Given the description of an element on the screen output the (x, y) to click on. 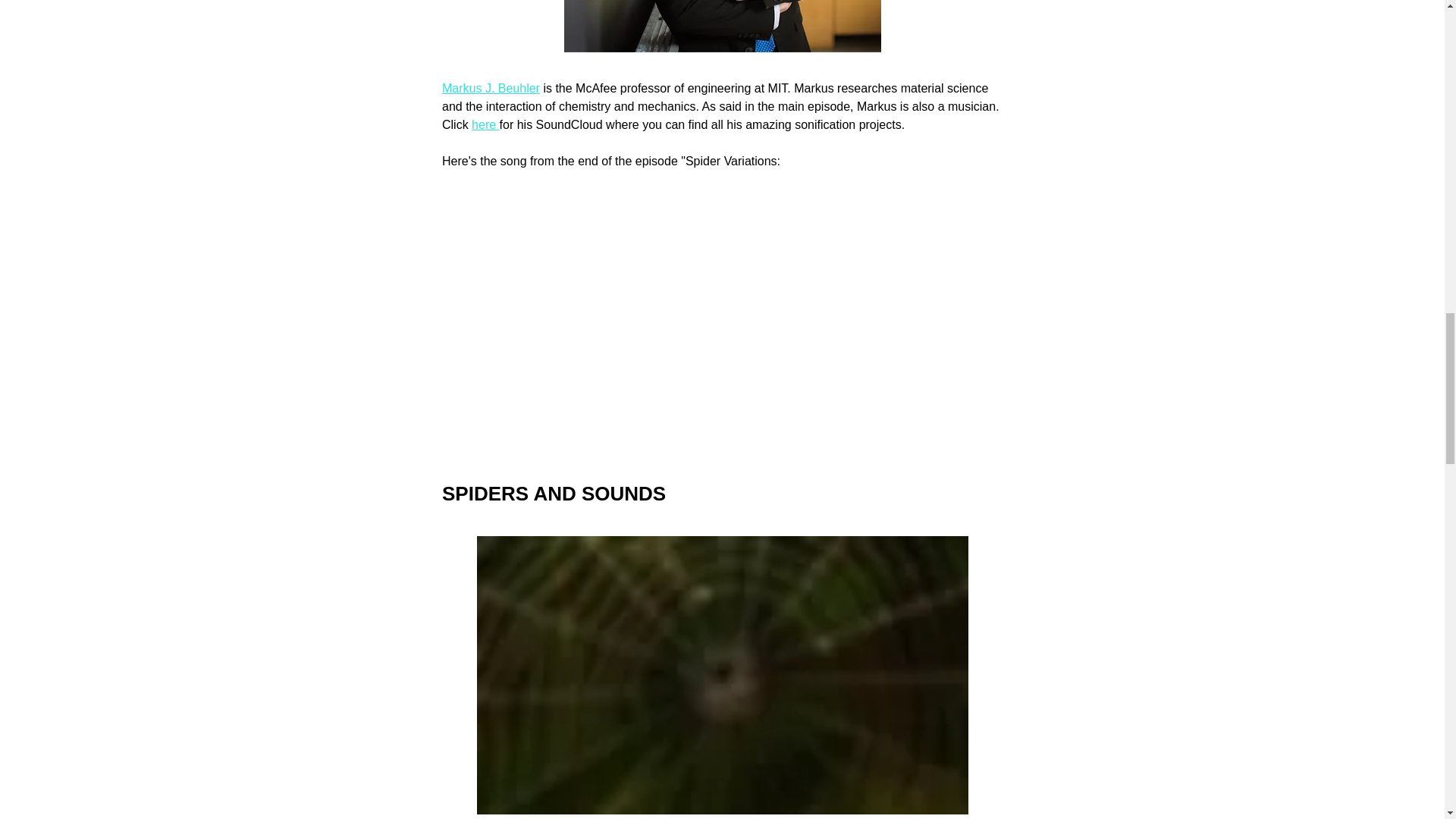
Markus J. Beuhler (489, 88)
here  (485, 124)
